Given the description of an element on the screen output the (x, y) to click on. 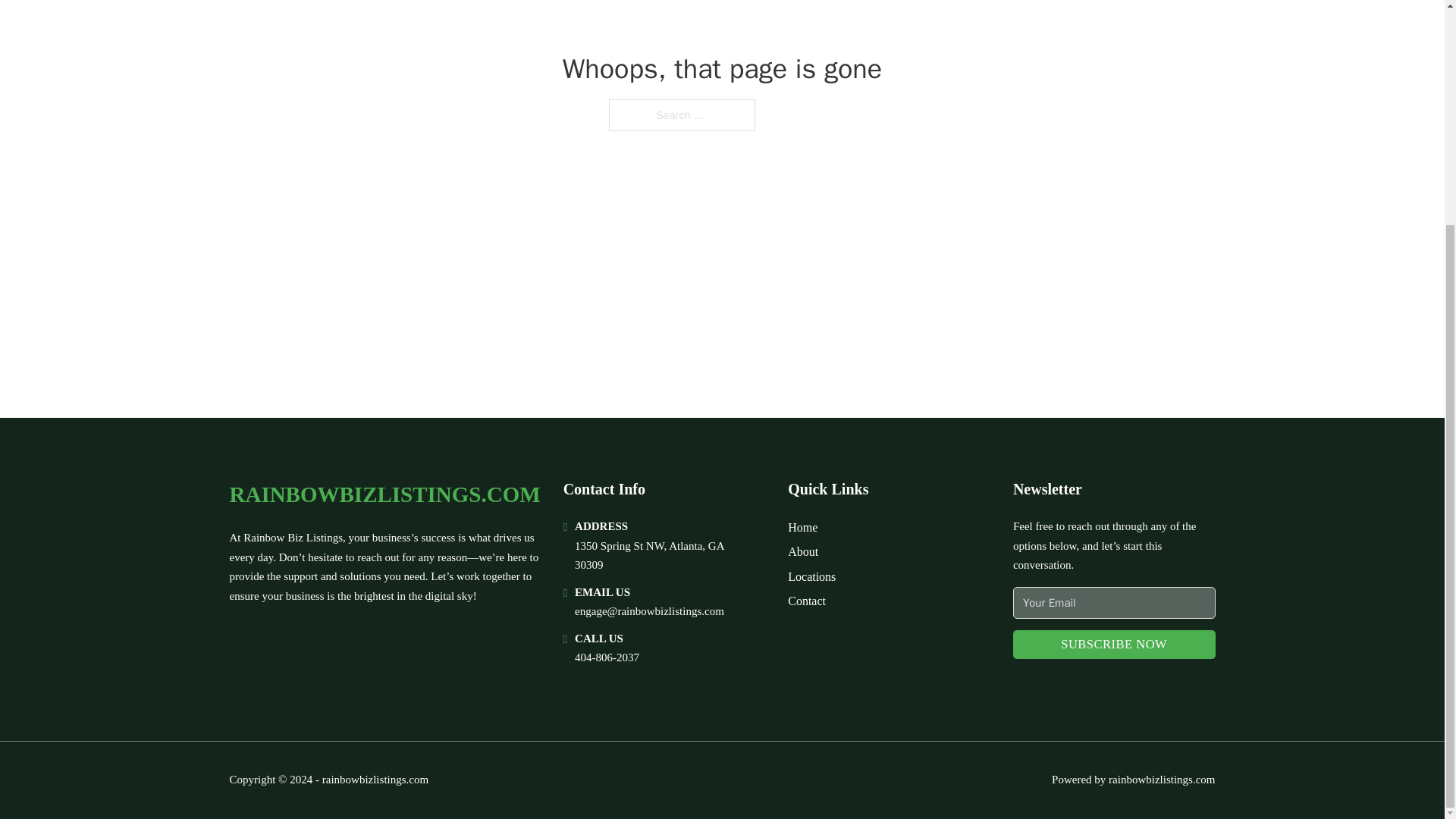
Locations (811, 576)
Contact (806, 600)
Home (801, 526)
About (802, 551)
SUBSCRIBE NOW (1114, 644)
404-806-2037 (607, 657)
RAINBOWBIZLISTINGS.COM (384, 494)
